Given the description of an element on the screen output the (x, y) to click on. 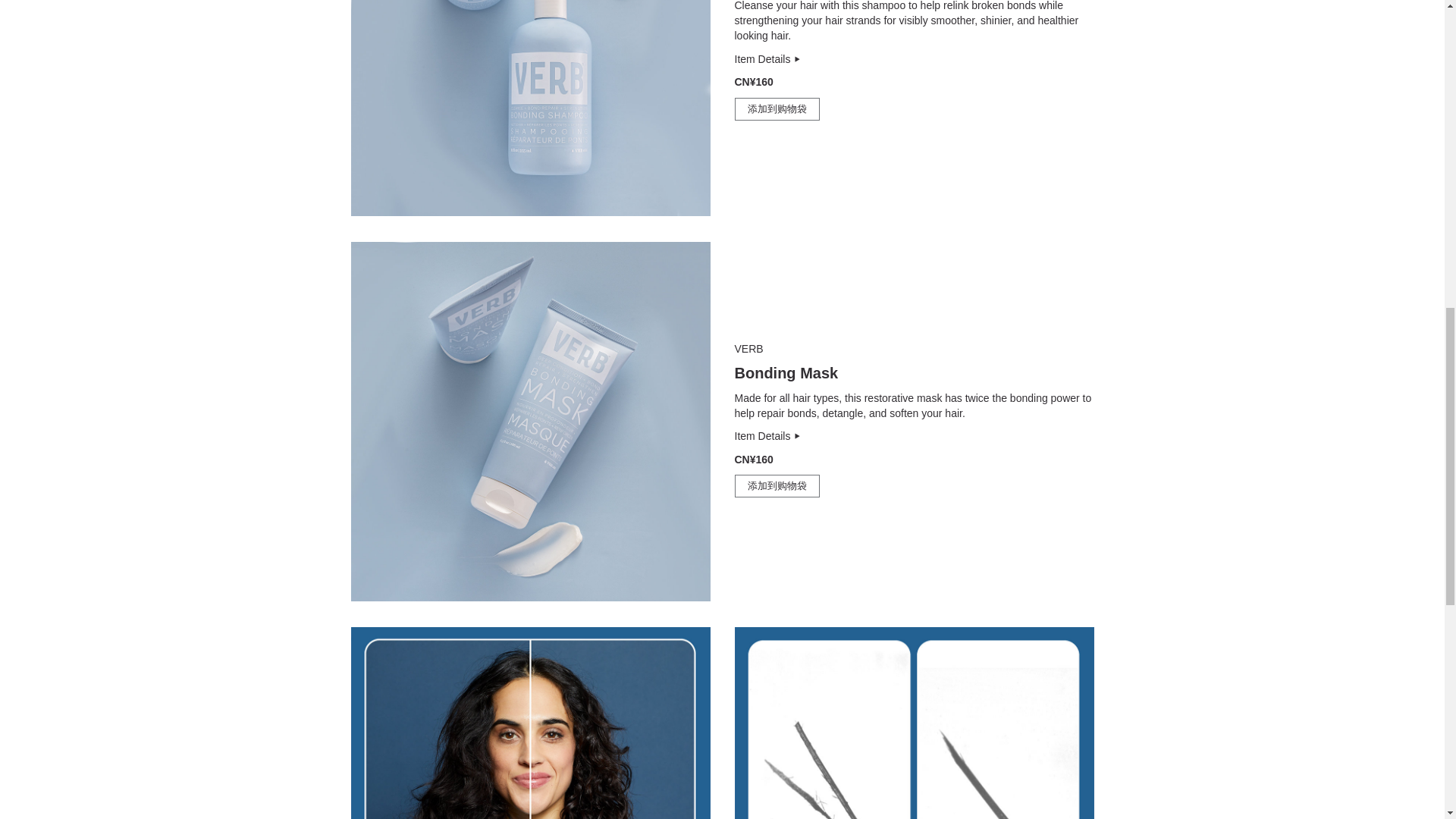
Verb Bonding Mask  (530, 421)
6.3 fl oz (785, 372)
6.3 fl oz (767, 435)
12 fl oz (767, 59)
Verb Bonding Shampoo  (530, 108)
